Given the description of an element on the screen output the (x, y) to click on. 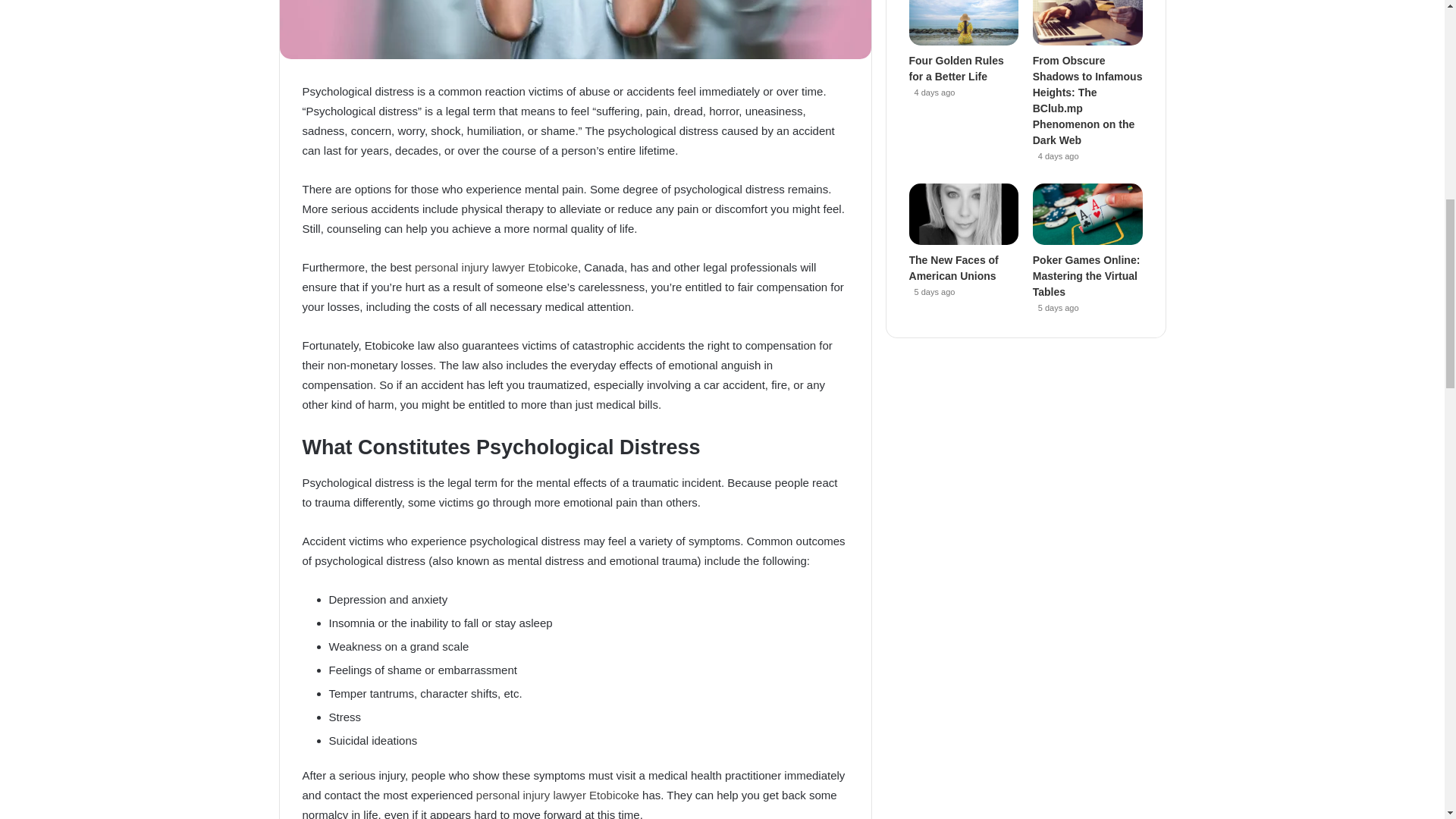
personal injury lawyer Etobicoke (496, 267)
personal injury lawyer Etobicoke (557, 794)
